Given the description of an element on the screen output the (x, y) to click on. 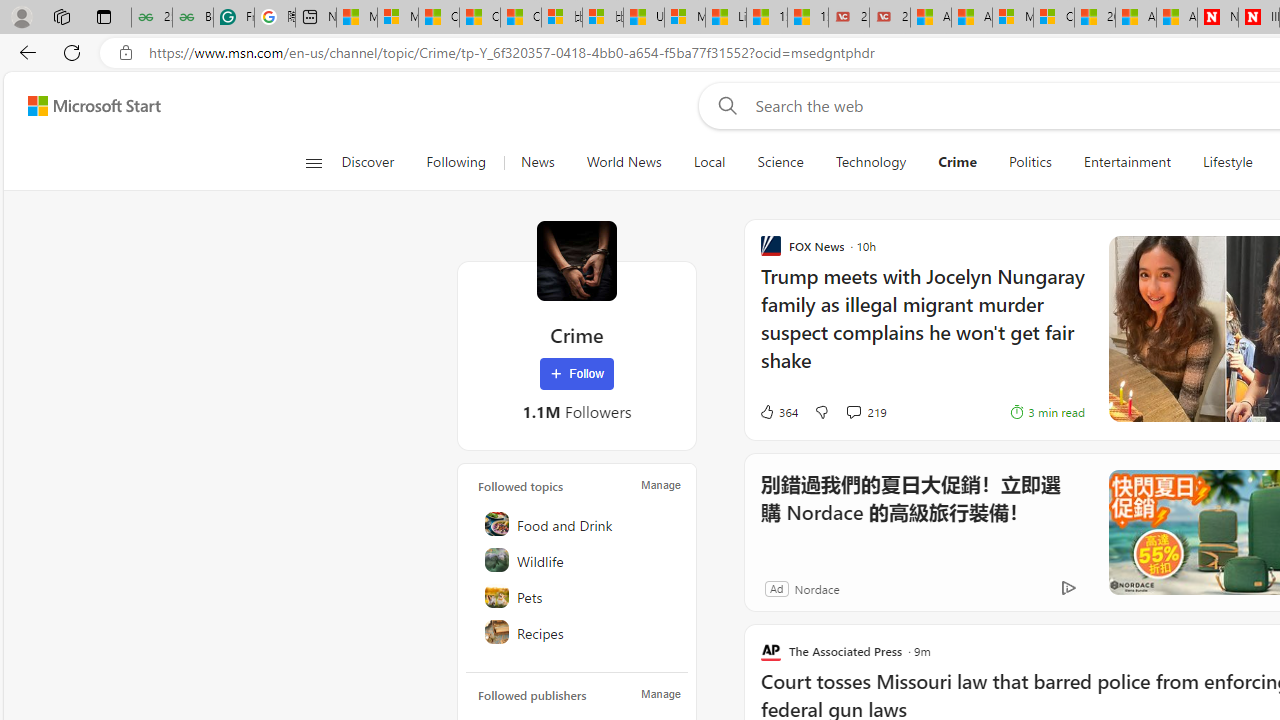
USA TODAY - MSN (643, 17)
Cloud Computing Services | Microsoft Azure (1053, 17)
